Given the description of an element on the screen output the (x, y) to click on. 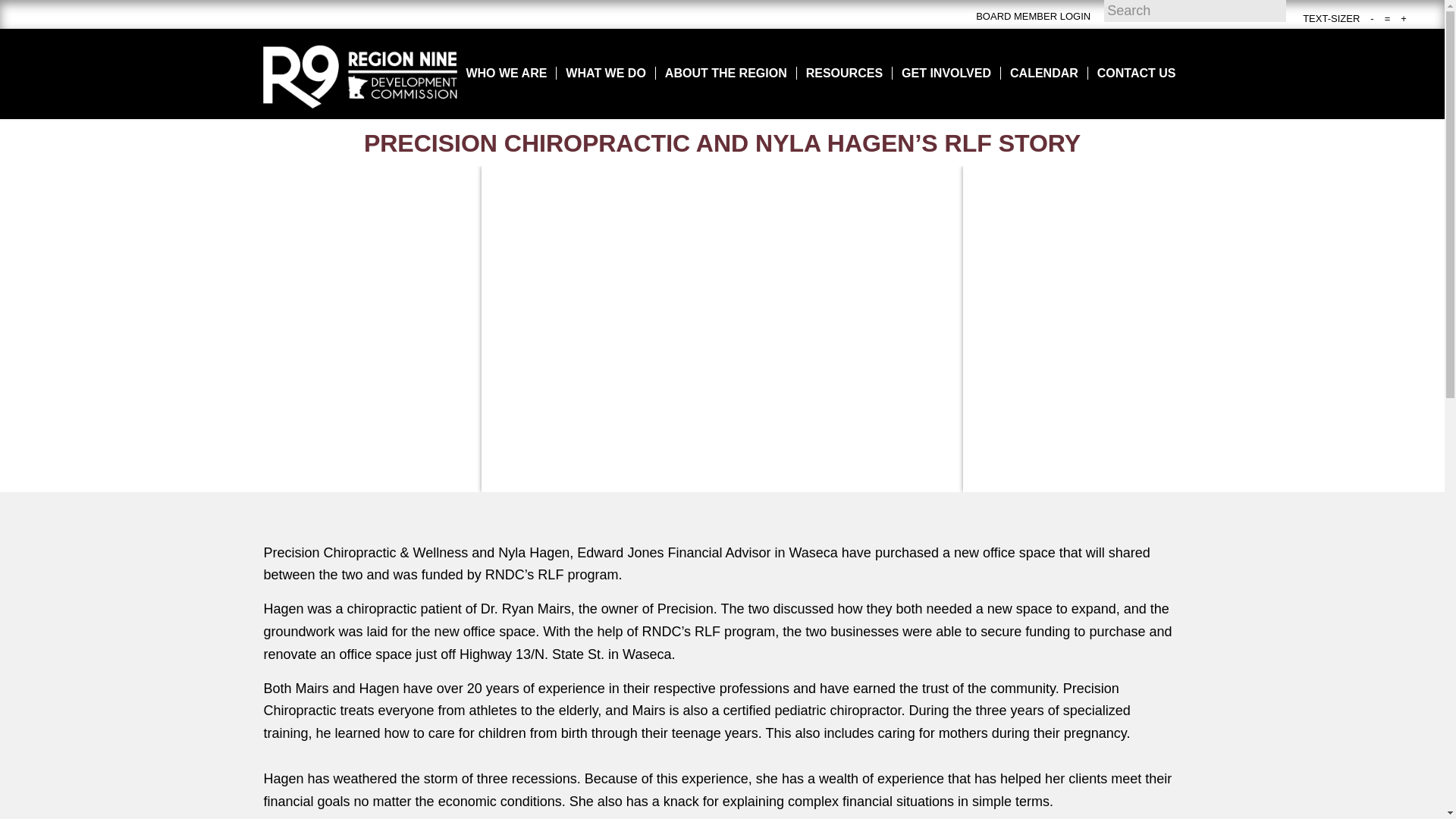
WHO WE ARE (506, 73)
BOARD MEMBER LOGIN (1033, 16)
WHAT WE DO (604, 73)
CALENDAR (1043, 73)
CONTACT US (1136, 73)
TEXT-SIZER (1331, 18)
RESOURCES (843, 73)
ABOUT THE REGION (725, 73)
GET INVOLVED (945, 73)
